Given the description of an element on the screen output the (x, y) to click on. 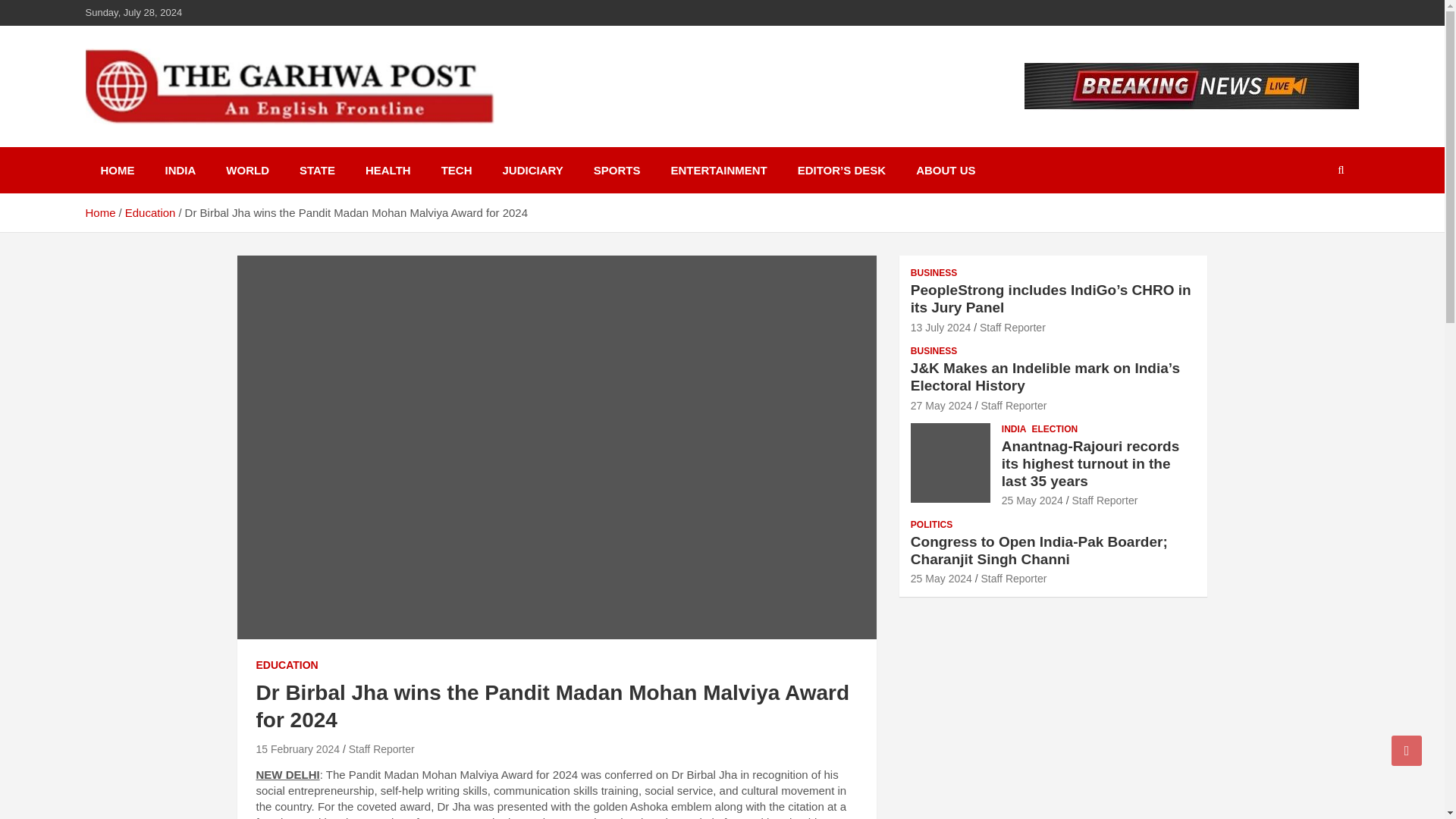
JUDICIARY (532, 170)
Staff Reporter (1012, 327)
EDUCATION (287, 665)
Staff Reporter (381, 748)
THE GARHWA POST (232, 143)
SPORTS (617, 170)
BUSINESS (933, 350)
WORLD (247, 170)
Home (99, 212)
STATE (316, 170)
Education (150, 212)
13 July 2024 (941, 327)
HEALTH (388, 170)
